Given the description of an element on the screen output the (x, y) to click on. 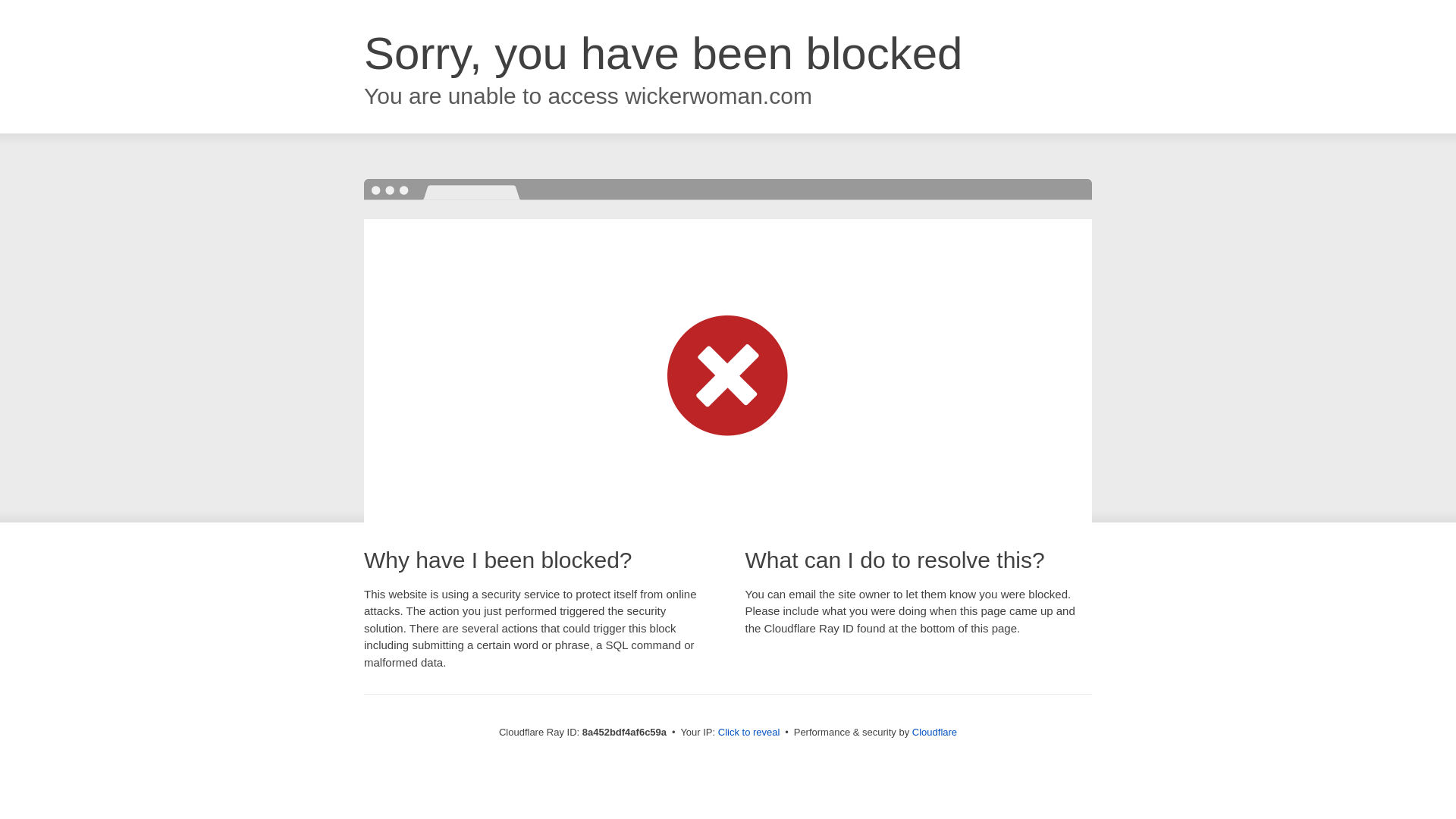
Cloudflare (934, 731)
Click to reveal (748, 732)
